Given the description of an element on the screen output the (x, y) to click on. 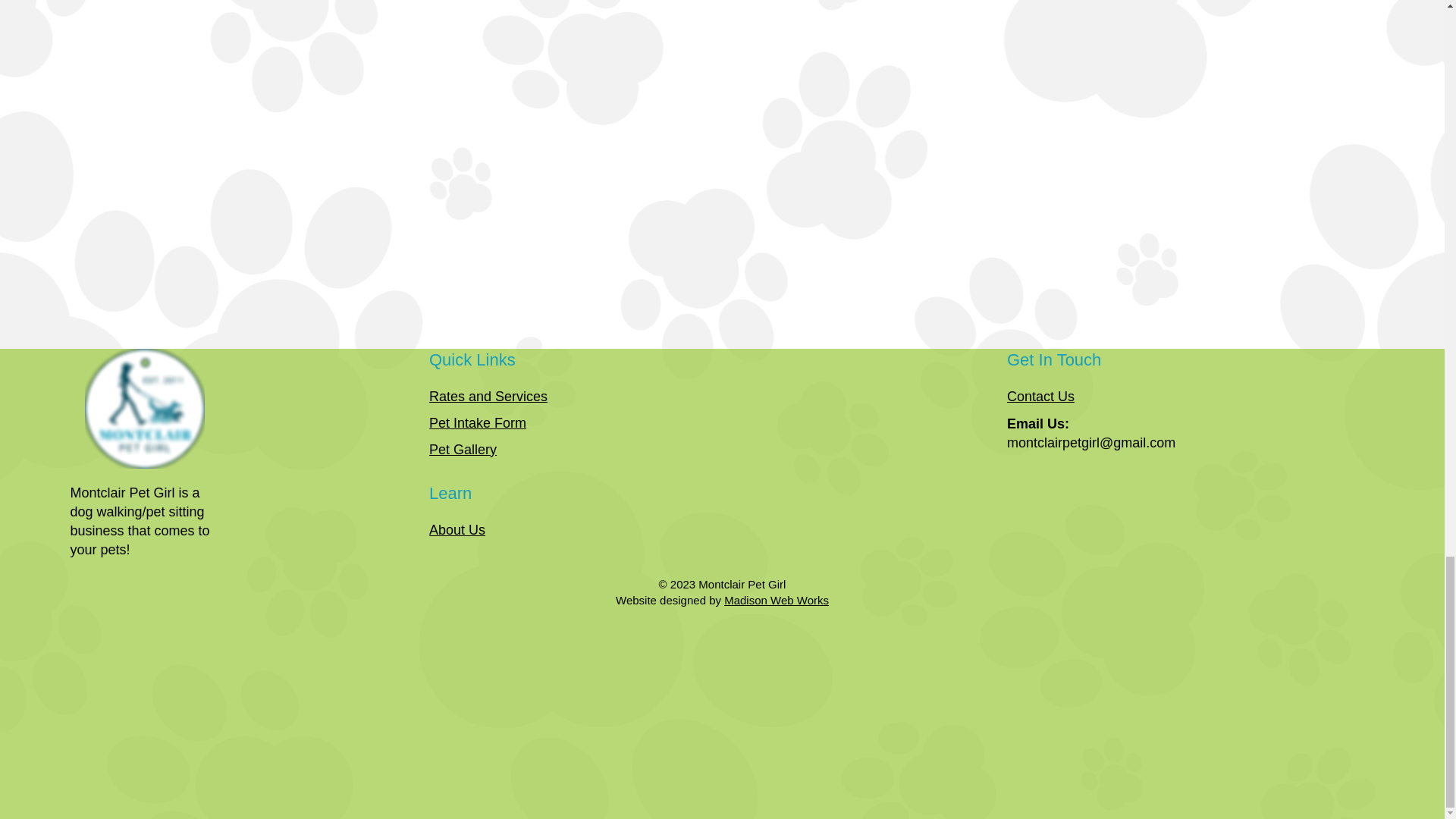
Rates and Services (488, 396)
Pet Gallery (462, 449)
Madison Web Works (775, 599)
Contact Us (1040, 396)
Pet Intake Form (477, 422)
About Us (456, 529)
